Given the description of an element on the screen output the (x, y) to click on. 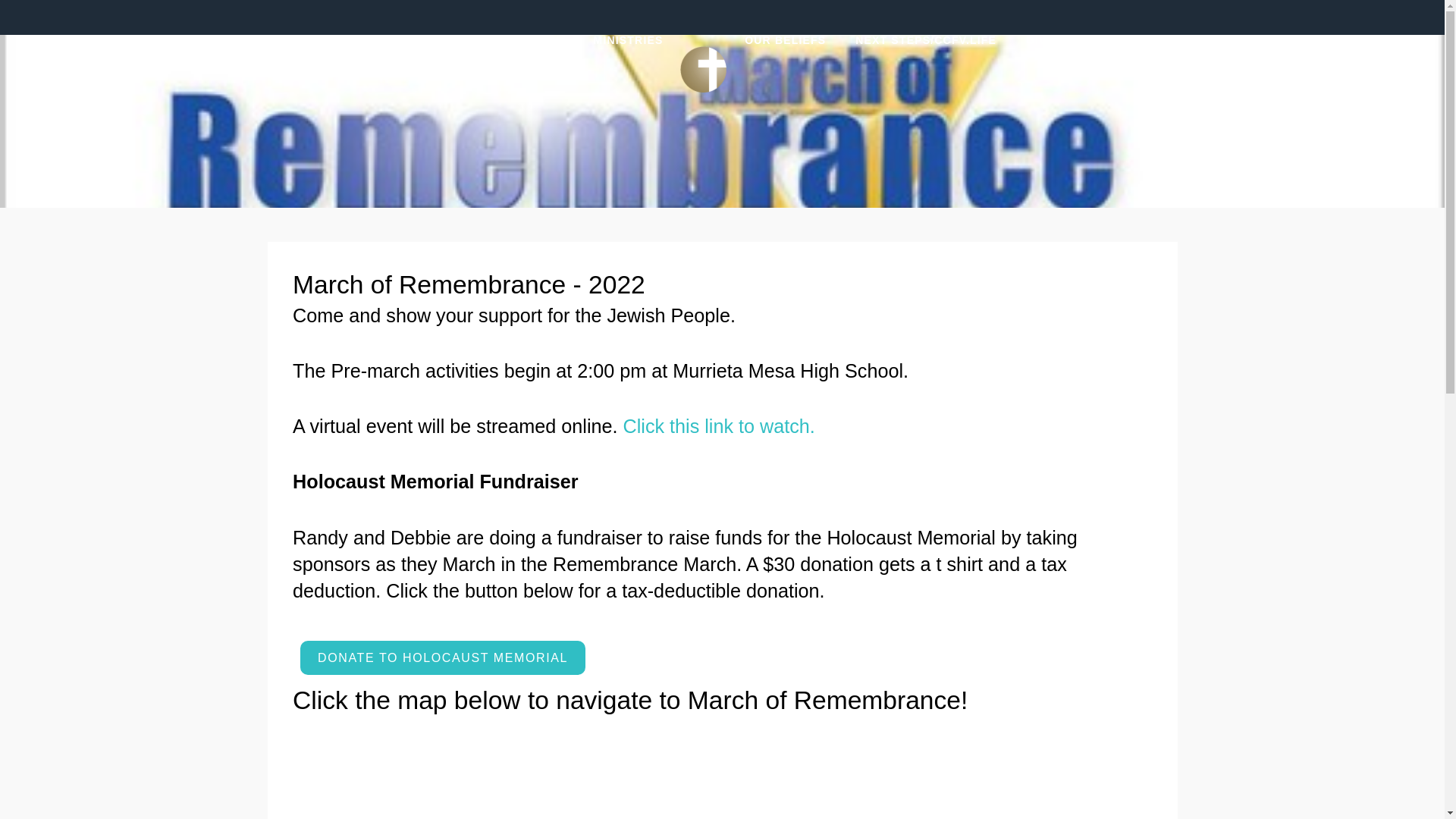
DONATE TO HOLOCAUST MEMORIAL (442, 657)
Glorifying God - Blessing Others - Growing Faith (695, 69)
MINISTRIES (620, 69)
WHO WE ARE (523, 69)
Click this link to watch.  (722, 425)
OUR BELIEFS (784, 69)
